Given the description of an element on the screen output the (x, y) to click on. 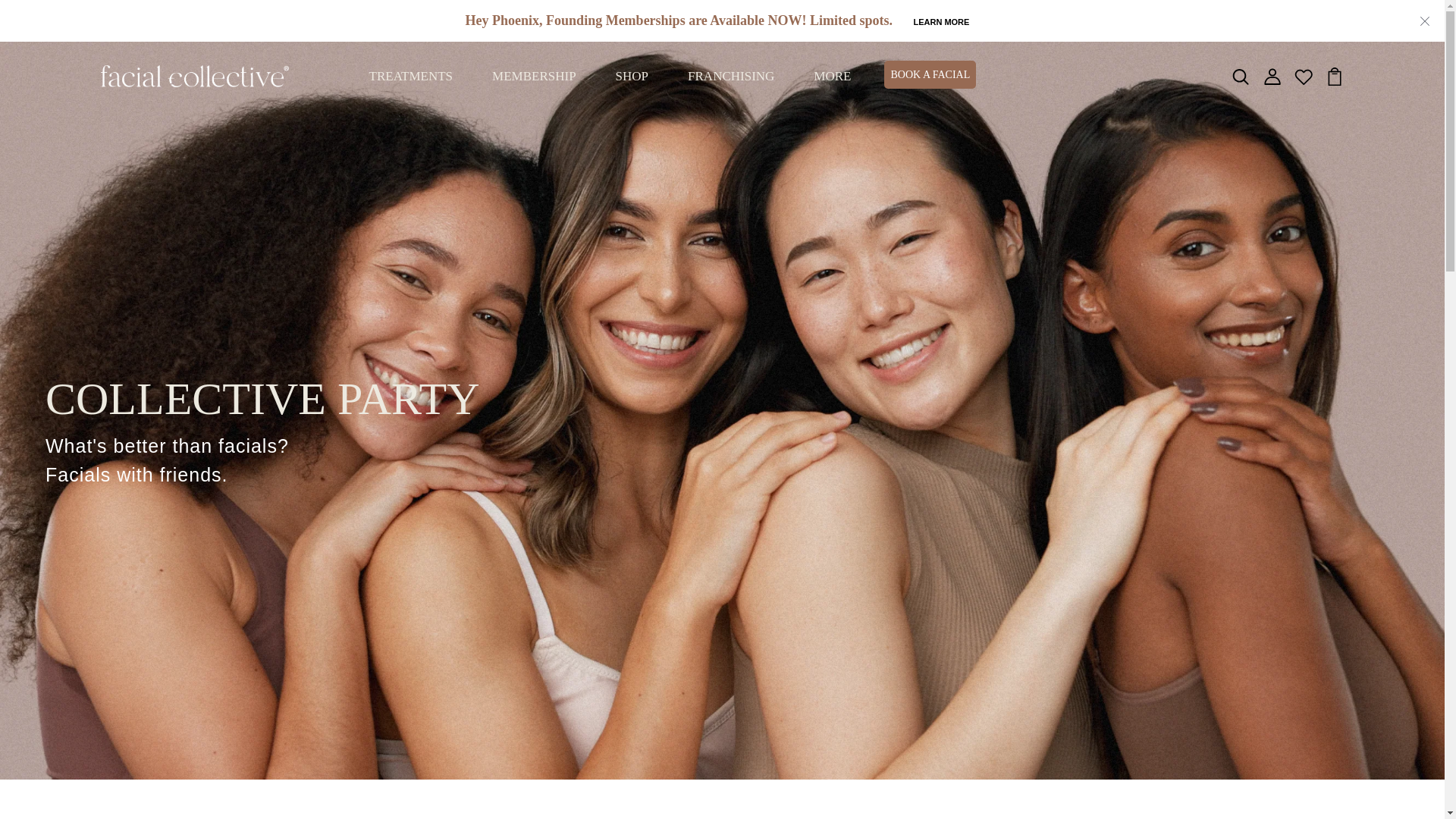
SHOP (631, 76)
MORE (832, 76)
Book A Facial (929, 74)
Shop (631, 76)
TREATMENTS (411, 76)
Franchising (730, 76)
Membership (534, 76)
LEARN MORE (940, 21)
FRANCHISING (730, 76)
More (832, 76)
